Given the description of an element on the screen output the (x, y) to click on. 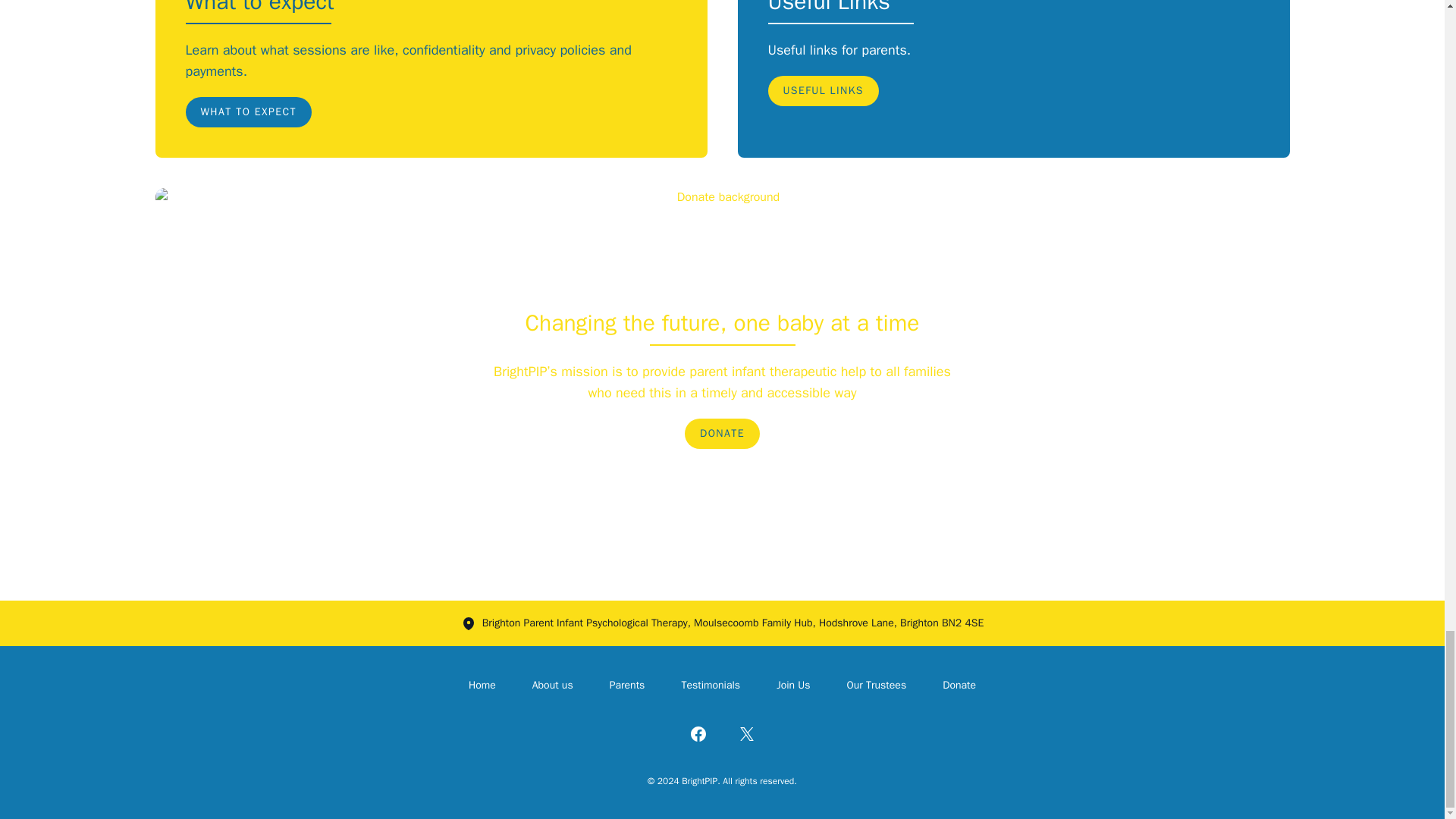
About us (552, 684)
Our Trustees (877, 684)
X (745, 733)
Home (482, 684)
Facebook (697, 733)
Parents (627, 684)
Donate (958, 684)
DONATE (722, 433)
Join Us (792, 684)
WHAT TO EXPECT (247, 112)
Testimonials (710, 684)
USEFUL LINKS (822, 91)
